Given the description of an element on the screen output the (x, y) to click on. 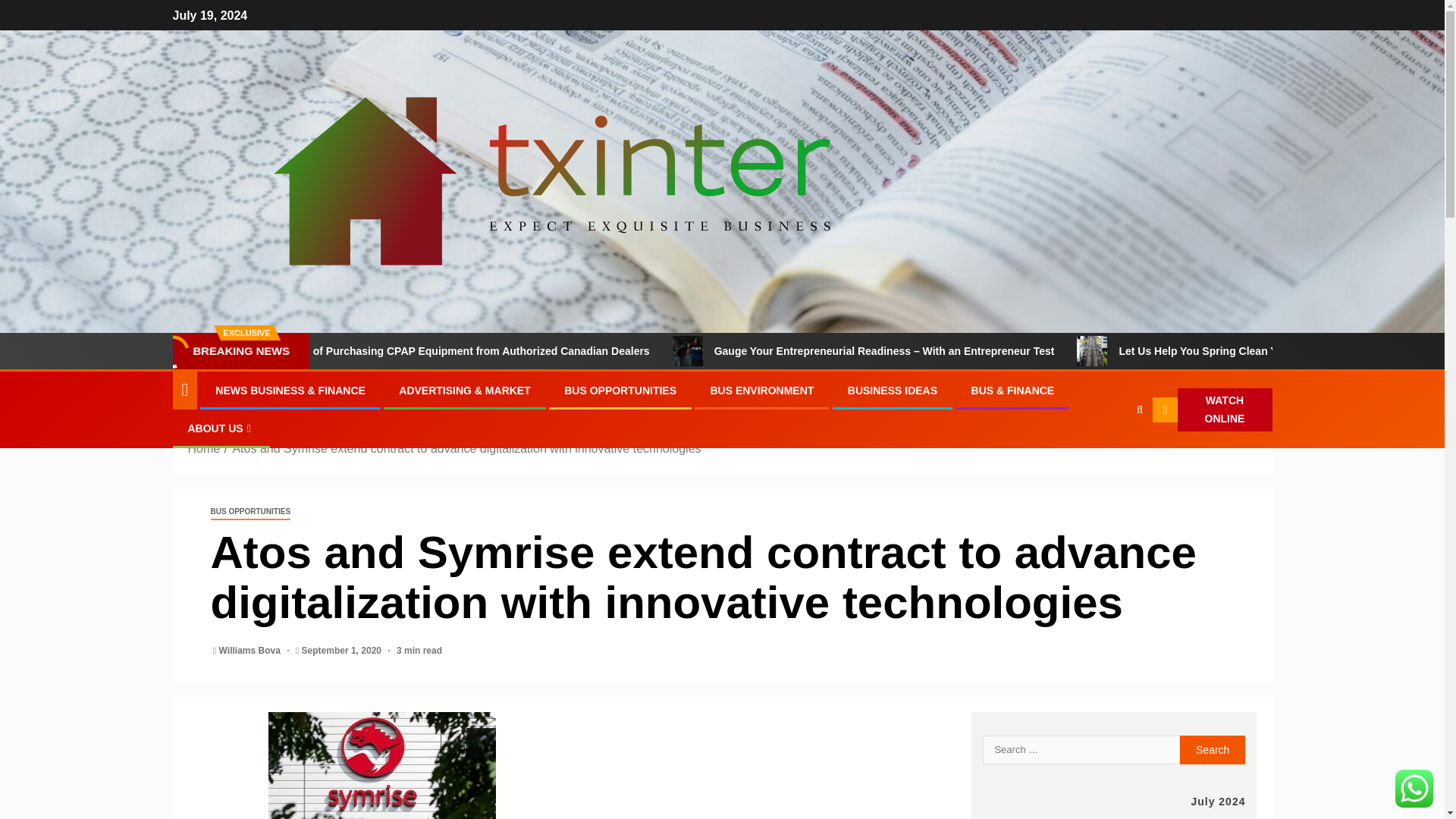
Search (1109, 456)
WATCH ONLINE (1212, 410)
BUSINESS IDEAS (892, 390)
Let Us Help You Spring Clean Your Finances! (1164, 350)
Home (204, 448)
Search (1212, 749)
BUS OPPORTUNITIES (251, 512)
Search (1212, 749)
Monday (1002, 817)
Williams Bova (251, 650)
BUS OPPORTUNITIES (620, 390)
BUS ENVIRONMENT (761, 390)
ABOUT US (220, 428)
